Given the description of an element on the screen output the (x, y) to click on. 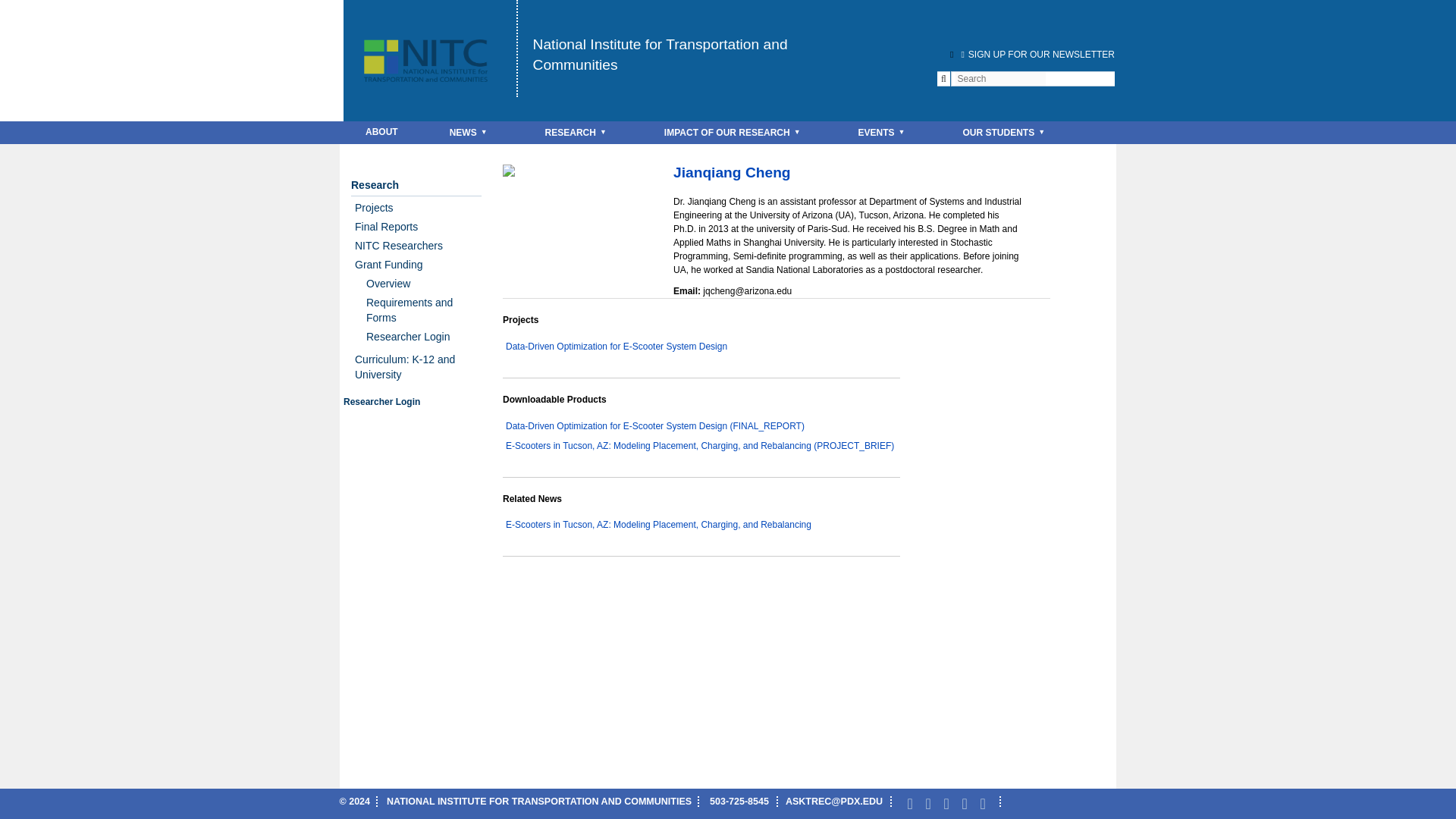
Home (659, 54)
Search (28, 9)
Enter the terms you wish to search for. (1000, 78)
EVENTS (885, 132)
Home (428, 40)
SIGN UP FOR OUR NEWSLETTER (1035, 54)
National Institute for Transportation and Communities (659, 54)
RESEARCH (578, 132)
ABOUT (381, 132)
IMPACT OF OUR RESEARCH (735, 132)
